Given the description of an element on the screen output the (x, y) to click on. 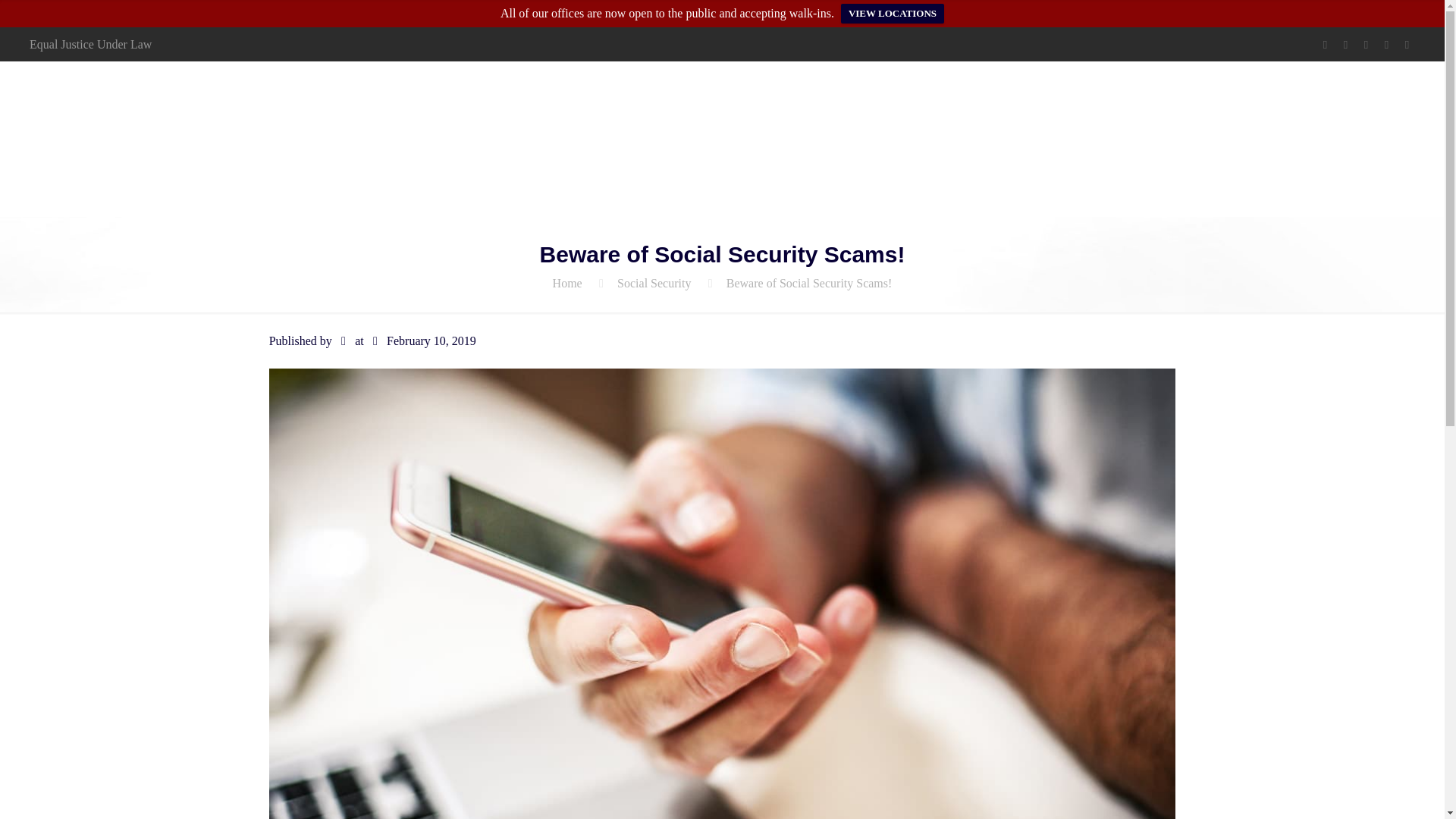
Twitter (1346, 44)
VIEW LOCATIONS (892, 13)
LinkedIn (1386, 44)
Beware of Social Security Scams! (809, 282)
Facebook (1325, 44)
Social Security (653, 282)
Instagram (1407, 44)
YouTube (1366, 44)
Home (567, 282)
